Given the description of an element on the screen output the (x, y) to click on. 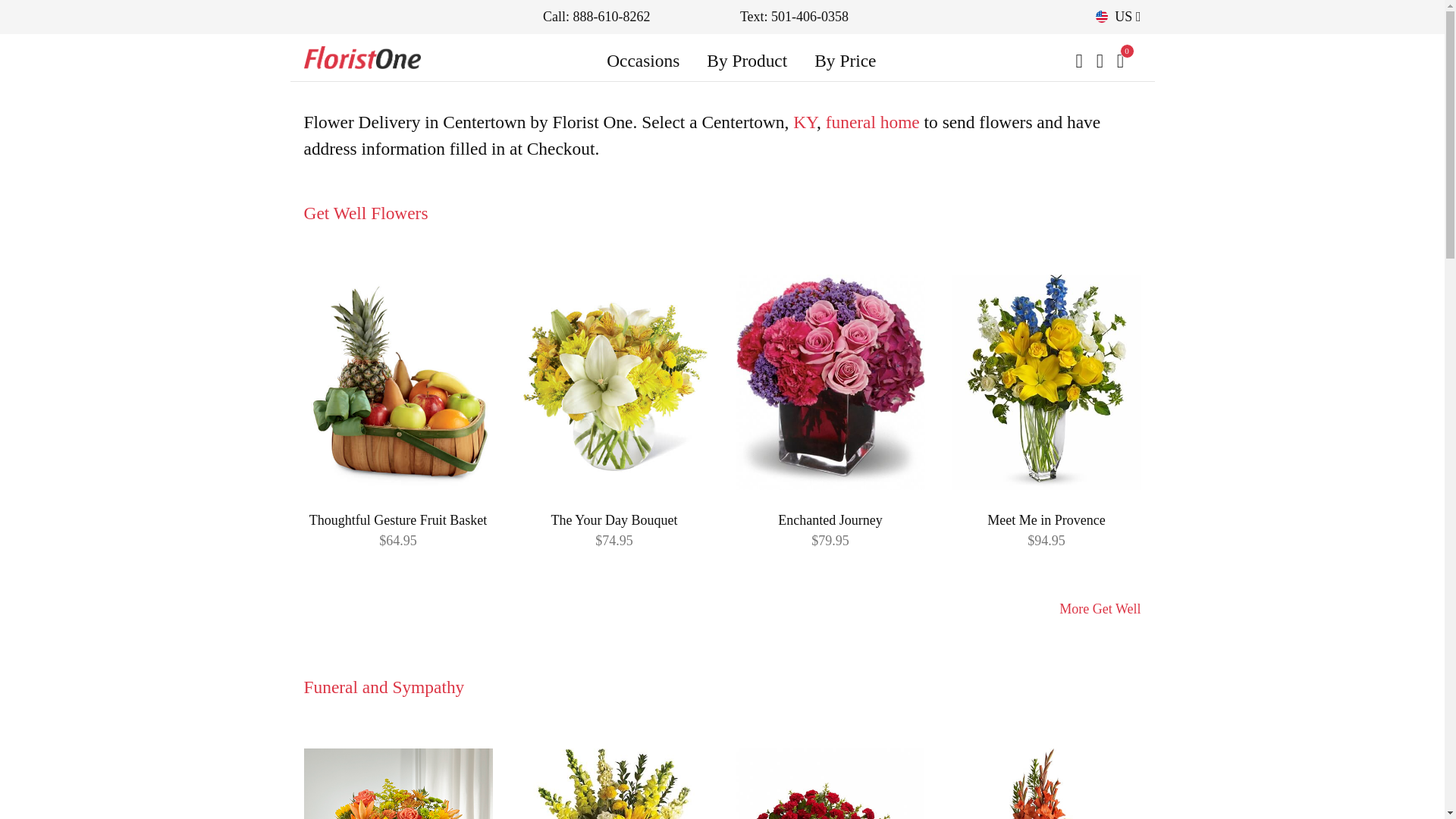
US (1117, 17)
Florist One (361, 57)
By Product (746, 60)
By Price (844, 60)
Occasions (642, 60)
